Given the description of an element on the screen output the (x, y) to click on. 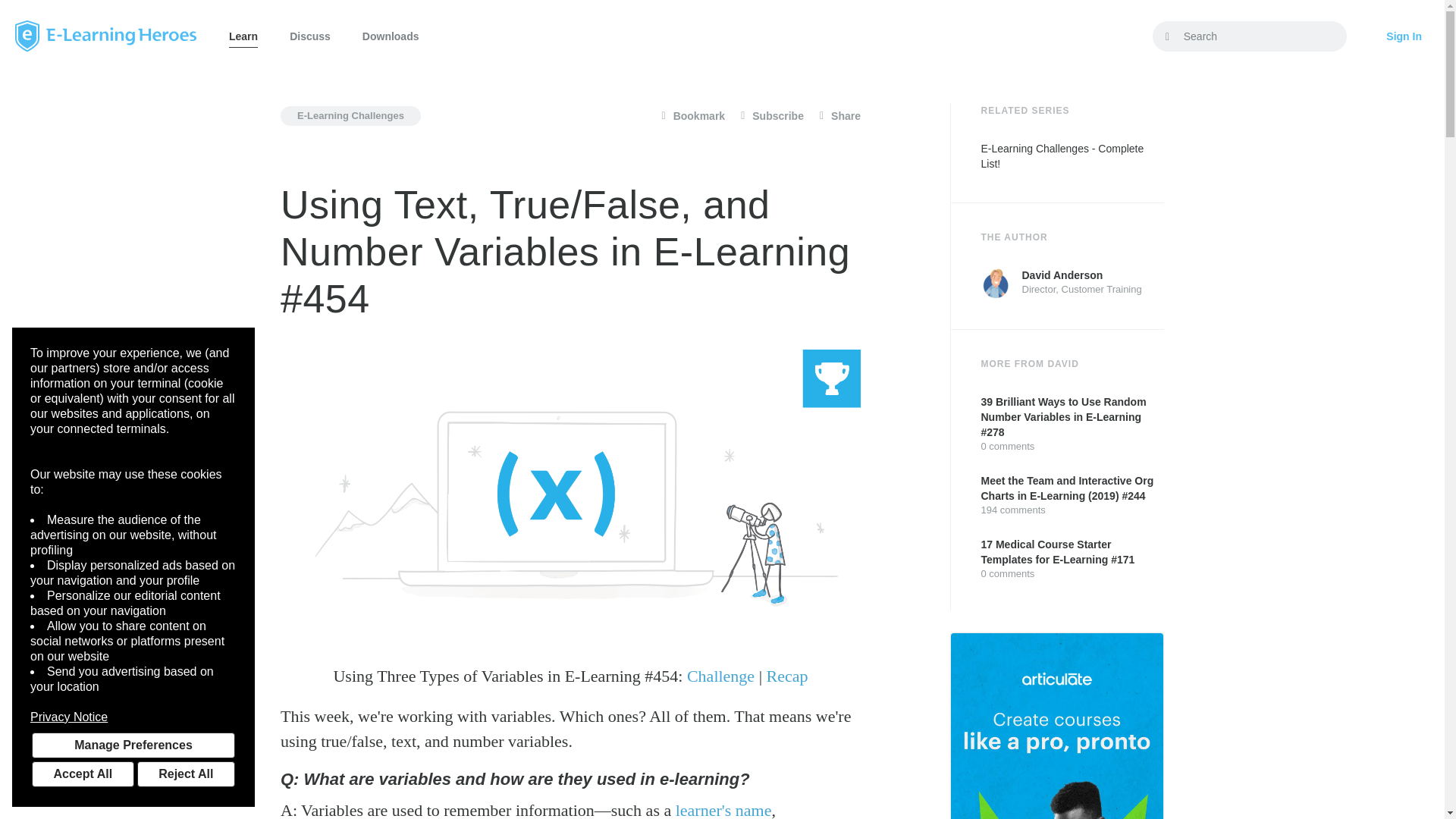
Discuss (309, 36)
Sign In (1404, 36)
Downloads (390, 36)
David Anderson (996, 283)
Manage Preferences (133, 745)
Accept All (82, 774)
E-Learning Heroes (105, 36)
Privacy Notice (132, 717)
Reject All (185, 774)
